Given the description of an element on the screen output the (x, y) to click on. 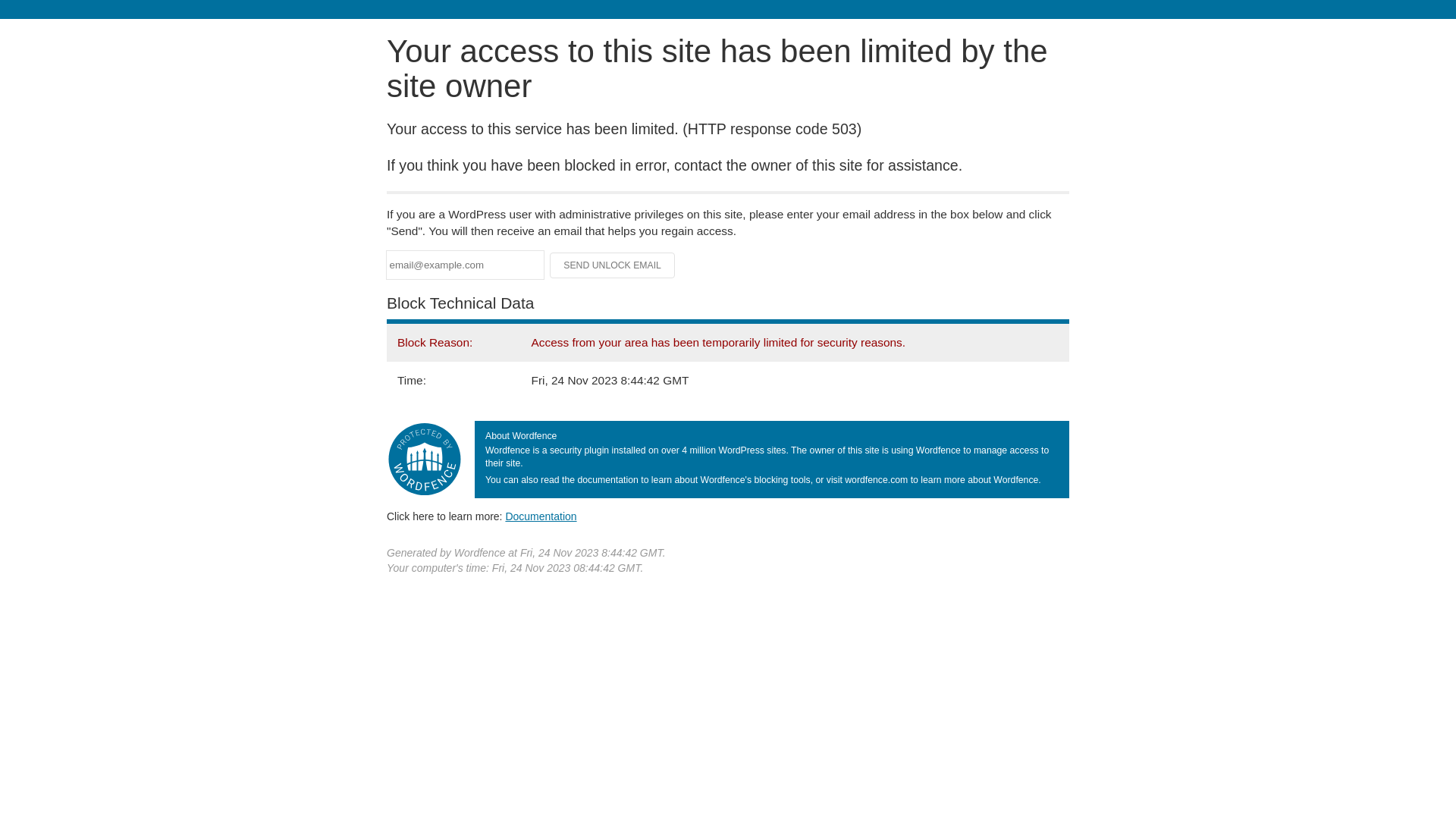
Documentation Element type: text (540, 516)
Send Unlock Email Element type: text (612, 265)
